Given the description of an element on the screen output the (x, y) to click on. 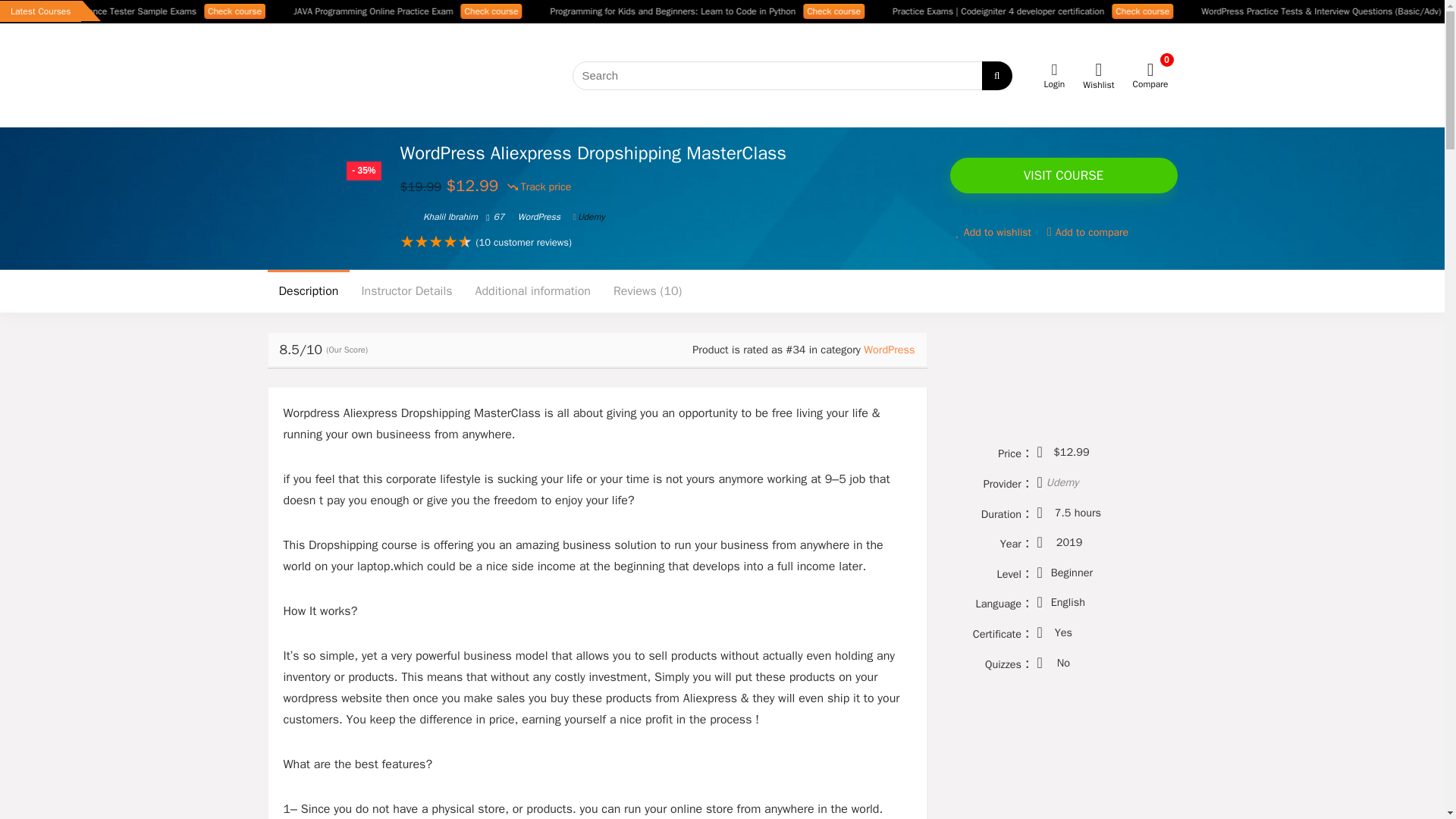
Description (307, 291)
Track price (539, 187)
Instructor Details (406, 291)
Udemy (589, 216)
WordPress (539, 216)
Check course (594, 10)
Check course (338, 10)
Additional information (533, 291)
Check course (1246, 10)
Khalil Ibrahim (438, 216)
WordPress (888, 349)
Check course (937, 10)
Rated 4.6 out of 5 (435, 242)
VISIT COURSE (1062, 175)
